Given the description of an element on the screen output the (x, y) to click on. 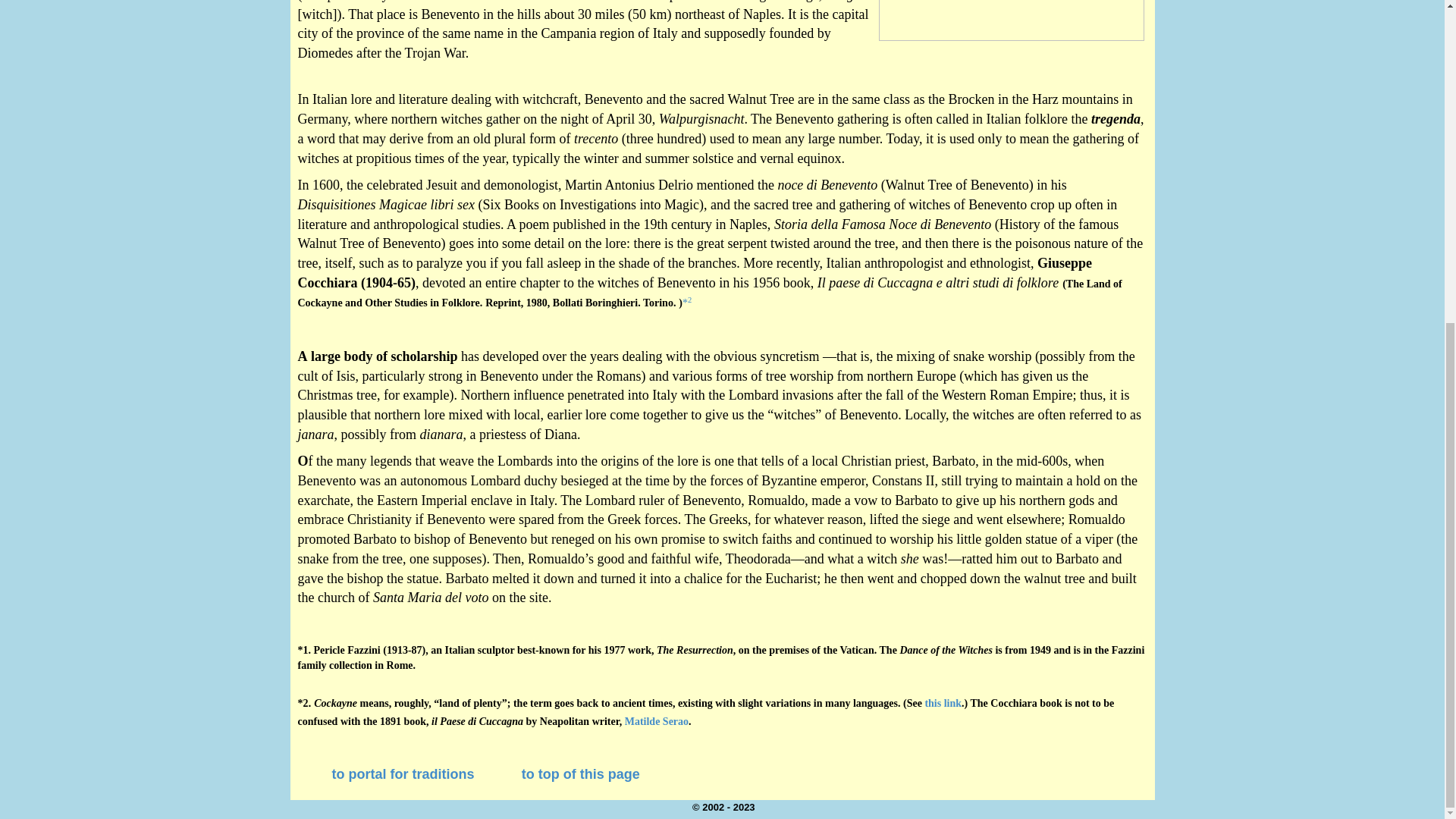
to portal for traditions (402, 774)
this link (942, 703)
to top of this page (580, 775)
Matilde Serao (656, 721)
